Given the description of an element on the screen output the (x, y) to click on. 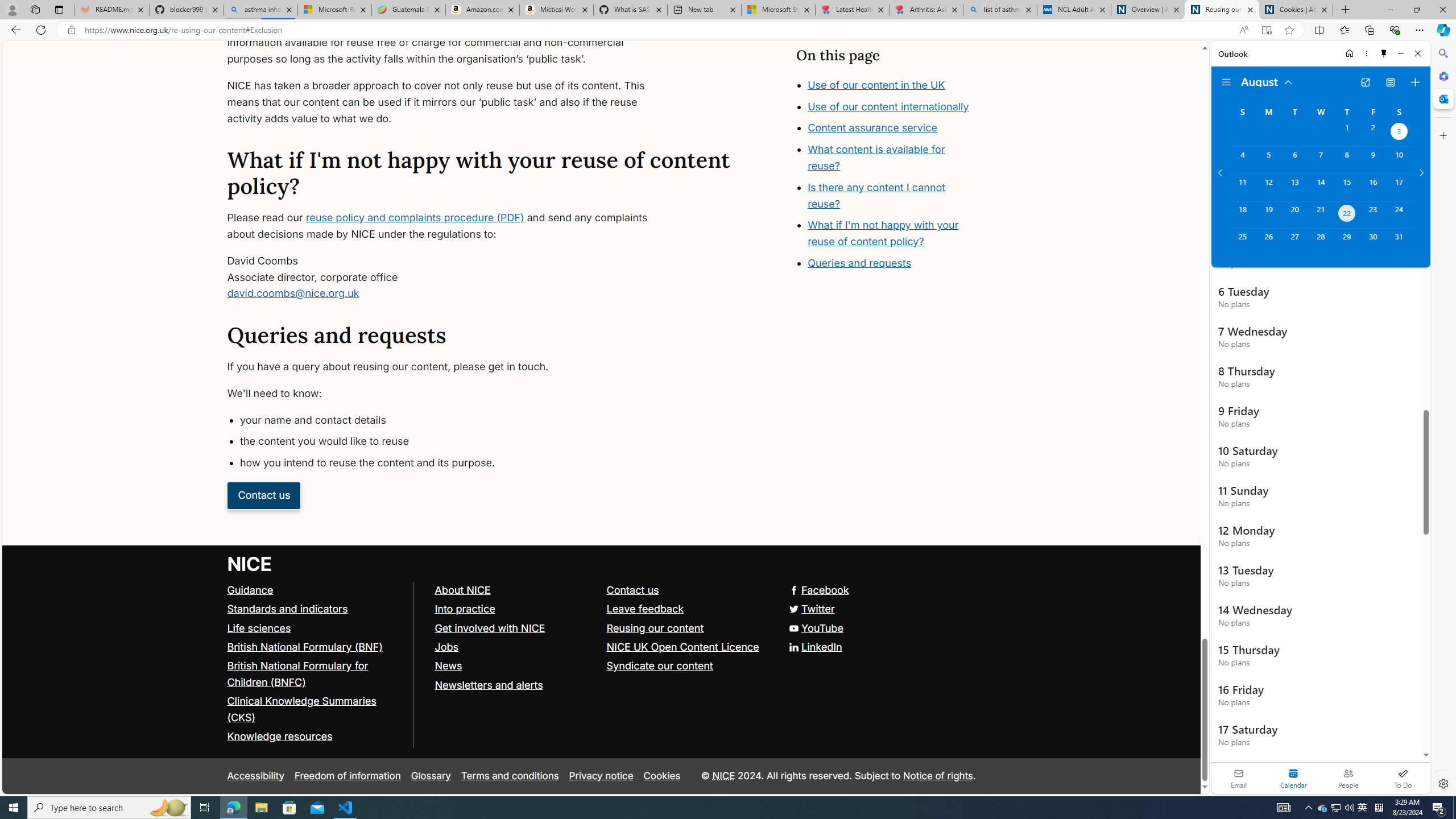
Leave feedback (686, 609)
Friday, August 16, 2024.  (1372, 186)
People (1347, 777)
Syndicate our content (659, 666)
Email (1238, 777)
British National Formulary for Children (BNFC) (297, 673)
reuse policy and complaints procedure (PDF) (414, 217)
YouTube (601, 628)
Content assurance service (872, 128)
Wednesday, August 21, 2024.  (1320, 214)
Glossary (430, 775)
